Given the description of an element on the screen output the (x, y) to click on. 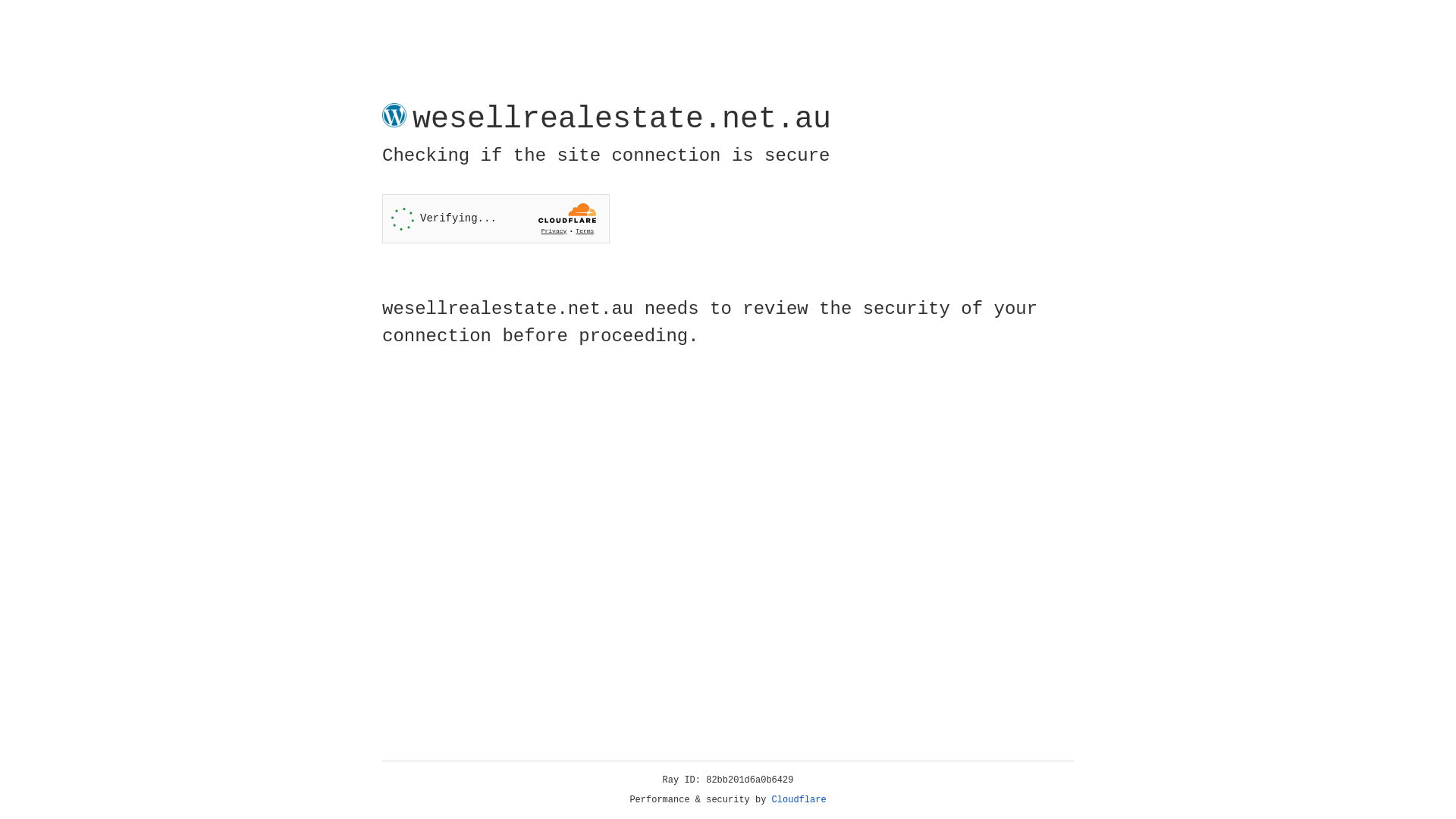
Widget containing a Cloudflare security challenge Element type: hover (495, 218)
Cloudflare Element type: text (798, 799)
